Given the description of an element on the screen output the (x, y) to click on. 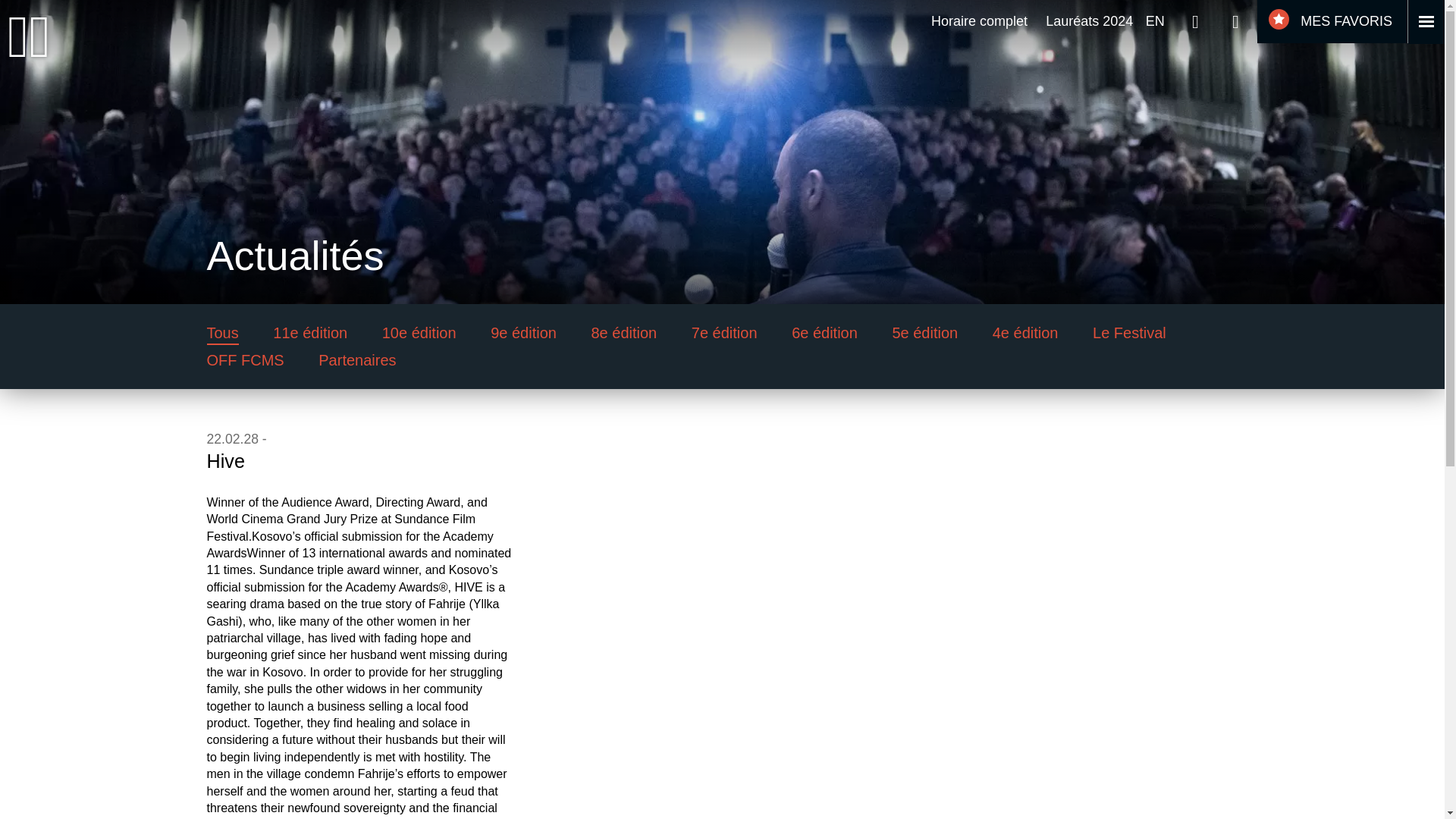
Tous (222, 332)
Horaire complet (979, 20)
EN (1154, 20)
